Given the description of an element on the screen output the (x, y) to click on. 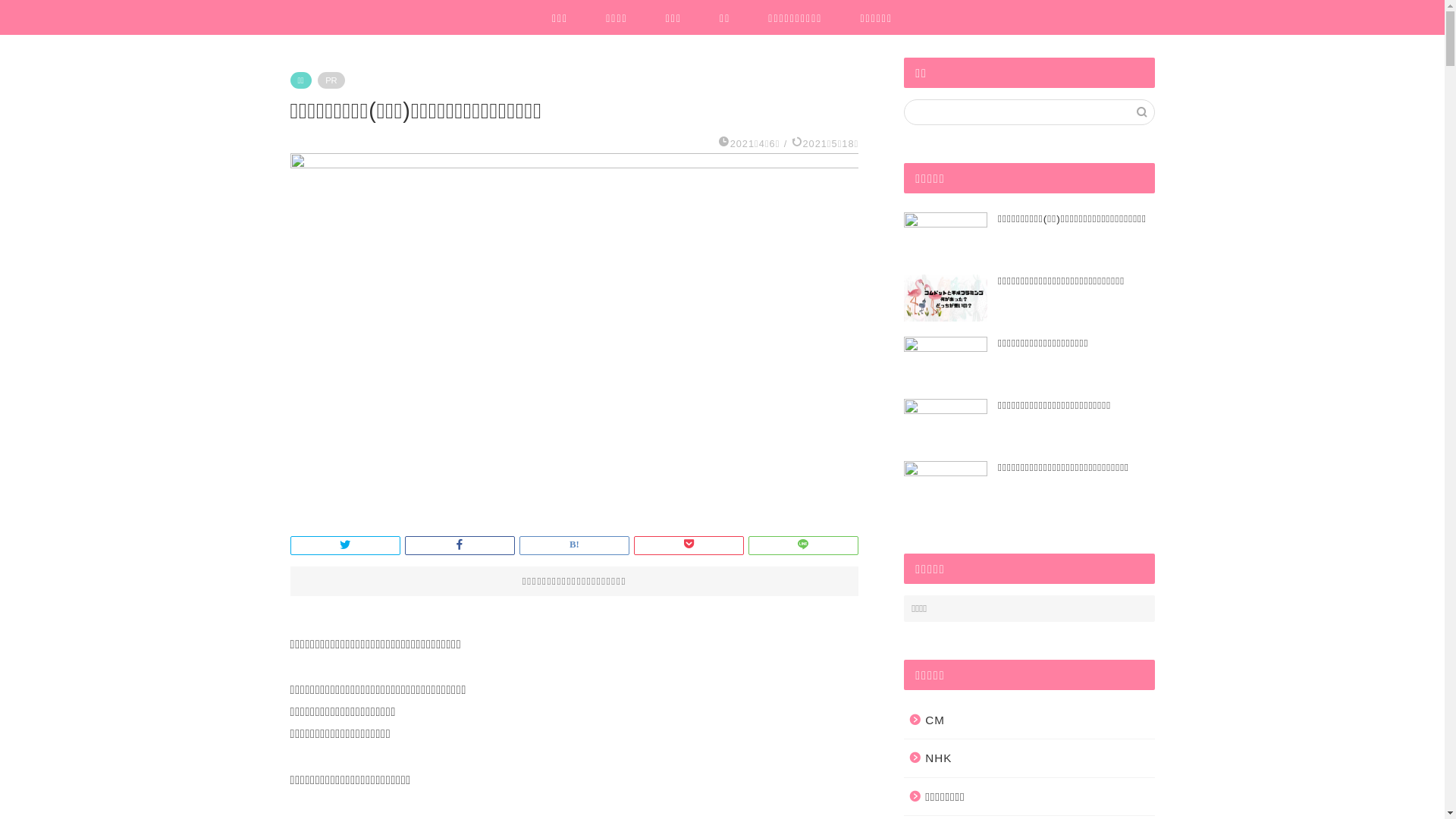
CM Element type: text (1027, 720)
NHK Element type: text (1027, 758)
